Given the description of an element on the screen output the (x, y) to click on. 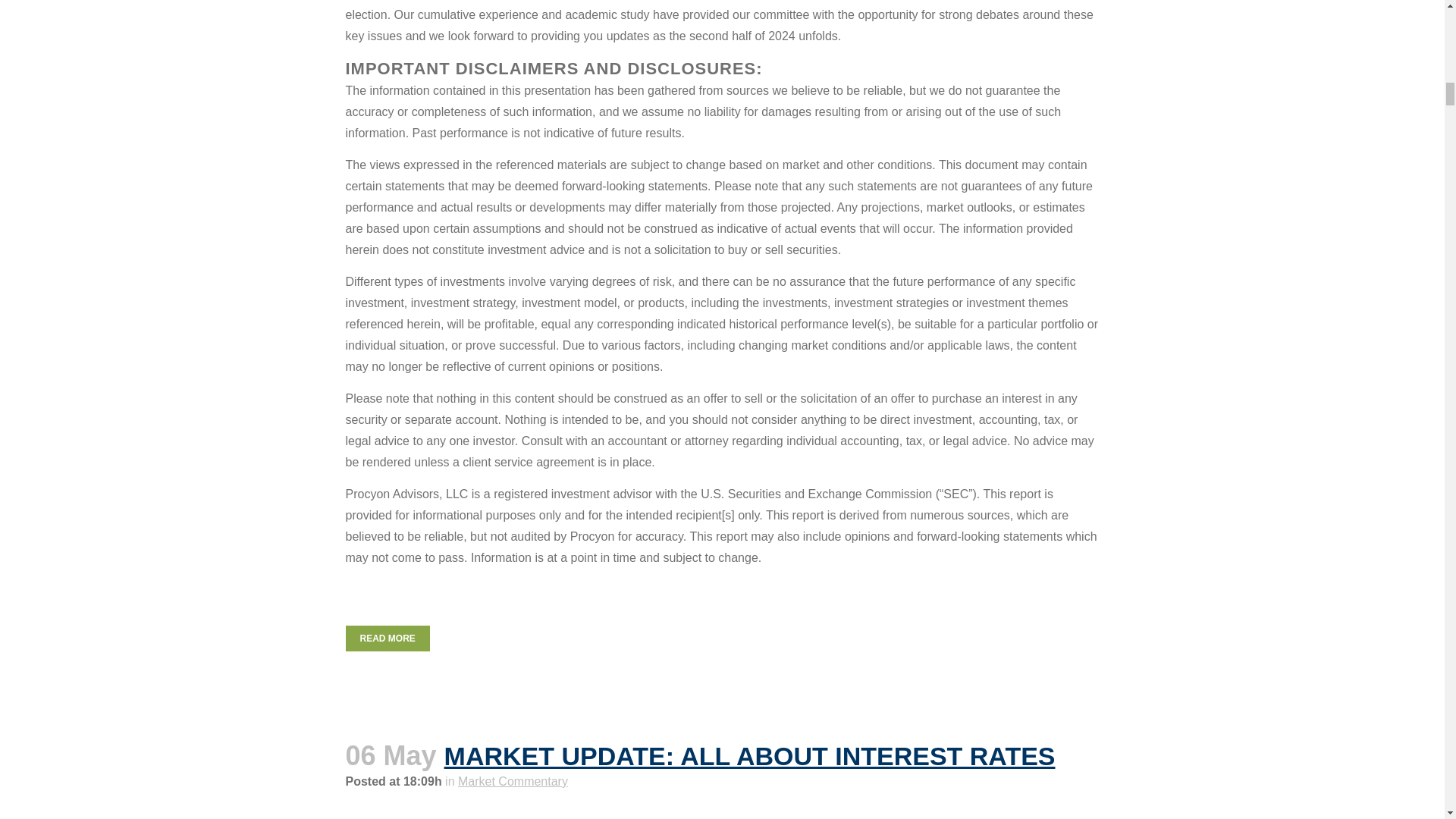
MARKET UPDATE: ALL ABOUT INTEREST RATES (749, 756)
MARKET UPDATE: ALL ABOUT INTEREST RATES (749, 756)
READ MORE (387, 638)
Market Commentary (512, 780)
